Given the description of an element on the screen output the (x, y) to click on. 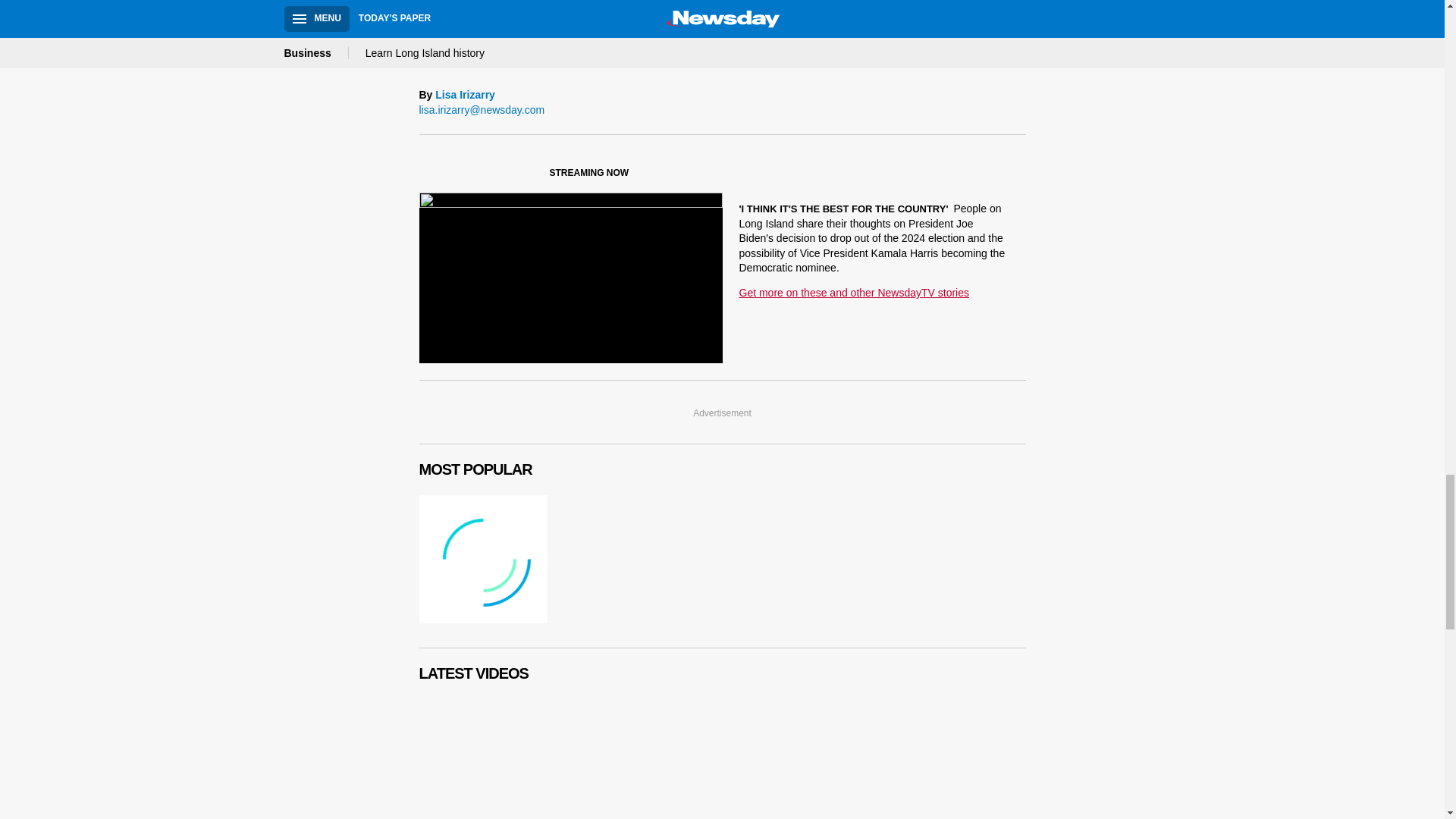
Lisa Irizarry (465, 95)
Get more on these and other NewsdayTV stories (853, 292)
STREAMING NOW (530, 175)
